Given the description of an element on the screen output the (x, y) to click on. 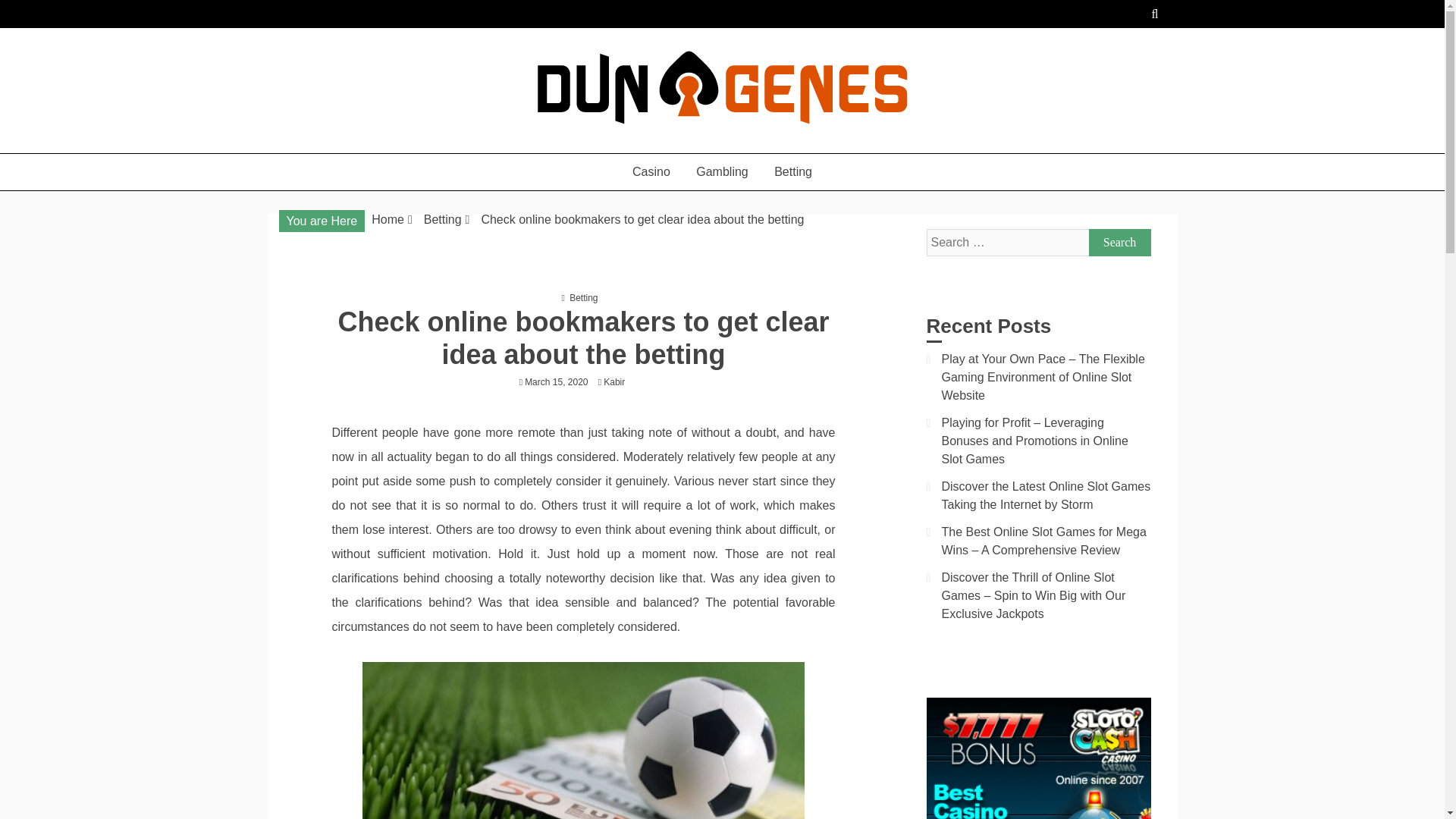
Check online bookmakers to get clear idea about the betting (641, 219)
March 15, 2020 (556, 381)
Betting (793, 171)
Home (387, 219)
Betting (442, 219)
Betting (582, 297)
Search (1120, 242)
Gambling (721, 171)
Kabir (617, 381)
Casino (651, 171)
Search (1120, 242)
Casino play free online (412, 146)
Search (1120, 242)
